Given the description of an element on the screen output the (x, y) to click on. 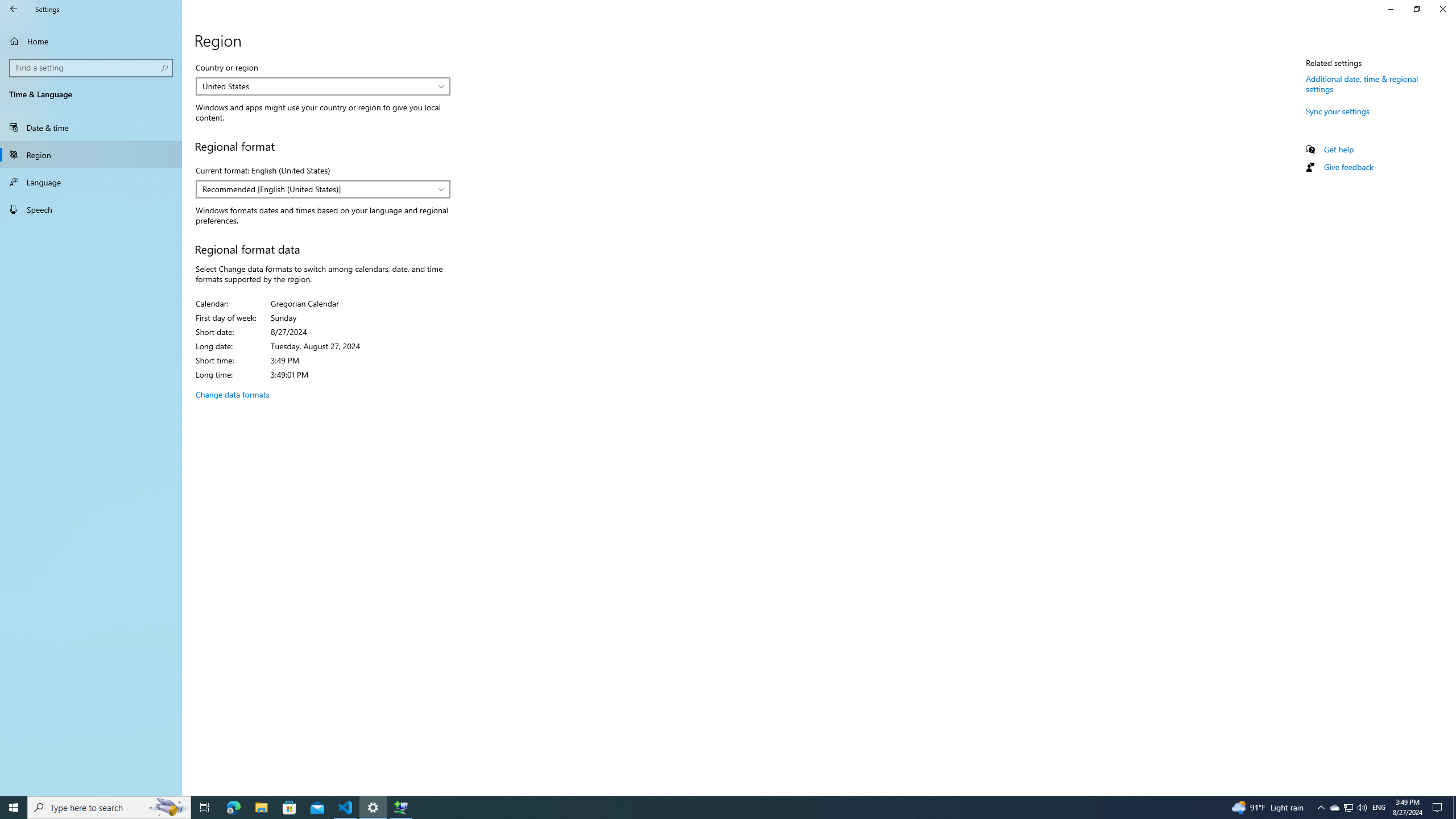
Additional date, time & regional settings (1362, 83)
Recommended [English (United States)] (317, 188)
Region (91, 154)
Extensible Wizards Host Process - 1 running window (400, 807)
